Given the description of an element on the screen output the (x, y) to click on. 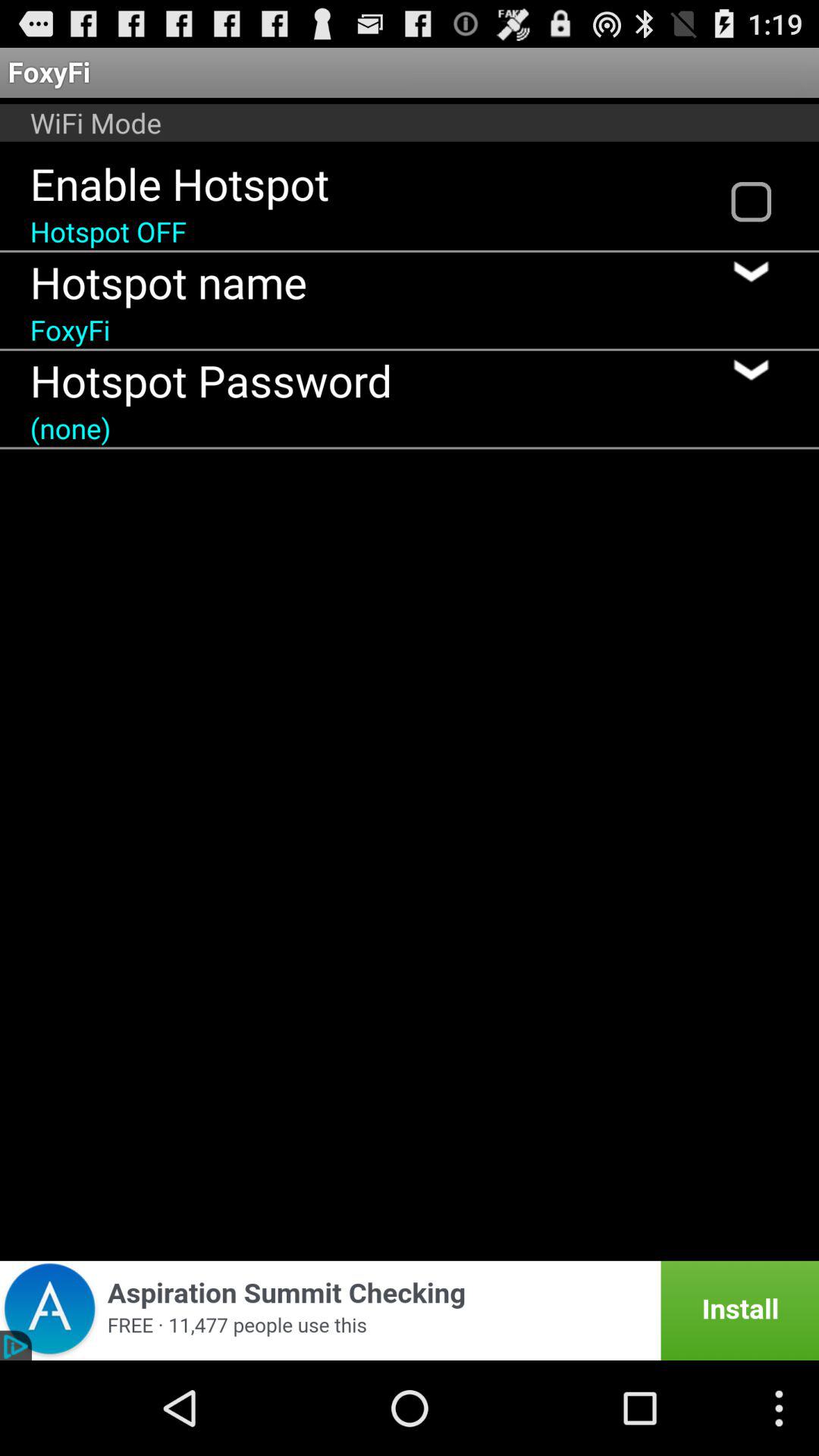
app advertisement popup (409, 1310)
